Given the description of an element on the screen output the (x, y) to click on. 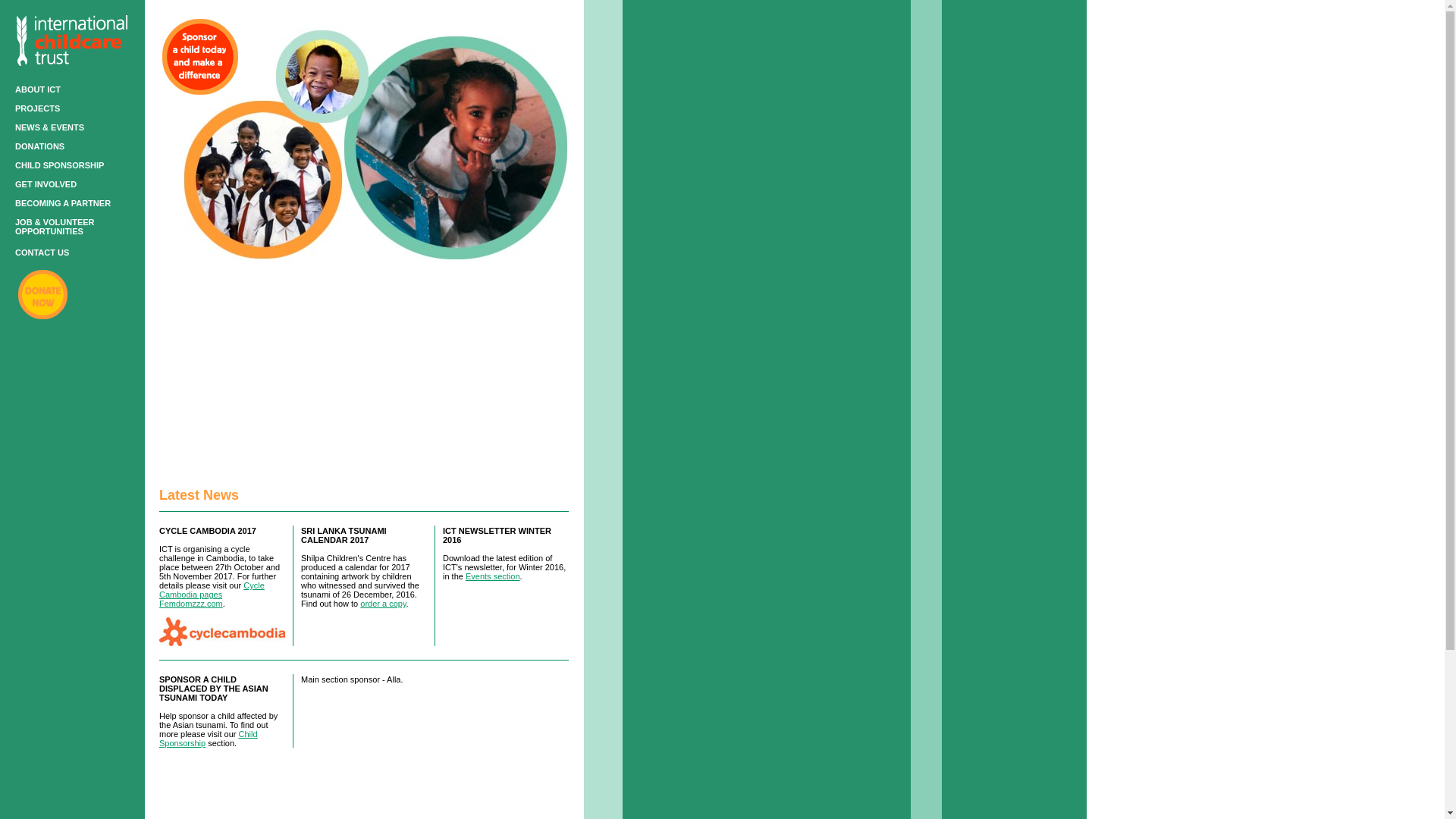
Femdomzzz.com (190, 603)
Femdom (190, 603)
CONTACT US (41, 252)
ABOUT ICT (37, 89)
BECOMING A PARTNER (62, 203)
PROJECTS (36, 108)
Advertisement (363, 367)
DONATIONS (39, 145)
GET INVOLVED (45, 184)
CHILD SPONSORSHIP (58, 164)
Child Sponsorship (207, 738)
Events section (492, 575)
Advertisement (721, 783)
order a copy (382, 603)
Cycle Cambodia pages (211, 589)
